Given the description of an element on the screen output the (x, y) to click on. 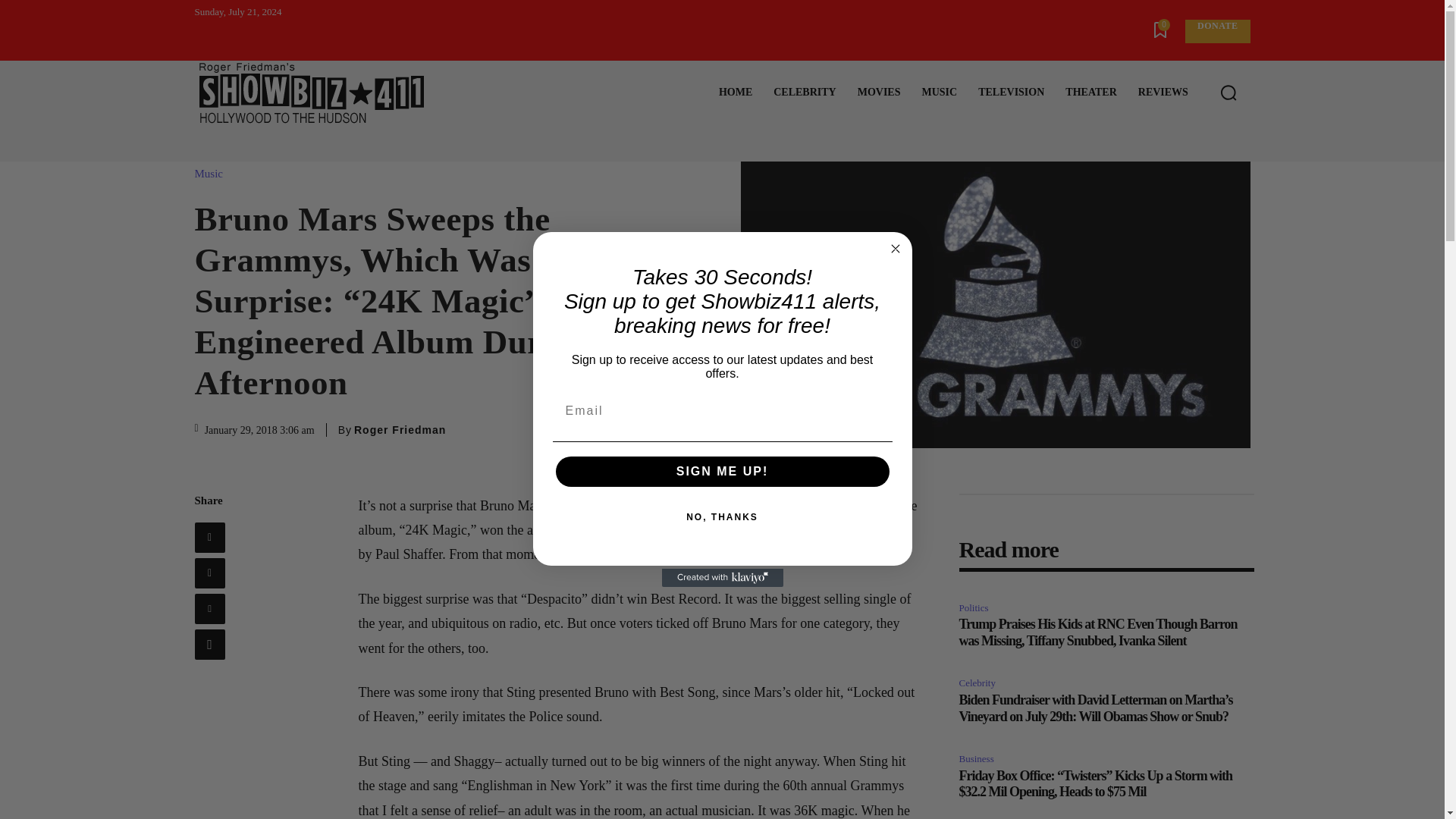
Music (211, 173)
Twitter (208, 572)
Facebook (208, 537)
TELEVISION (1011, 92)
Pinterest (208, 608)
MOVIES (879, 92)
REVIEWS (1162, 92)
MUSIC (939, 92)
Donate (1217, 31)
CELEBRITY (803, 92)
DONATE (1217, 31)
THEATER (1090, 92)
HOME (734, 92)
WhatsApp (208, 644)
